Given the description of an element on the screen output the (x, y) to click on. 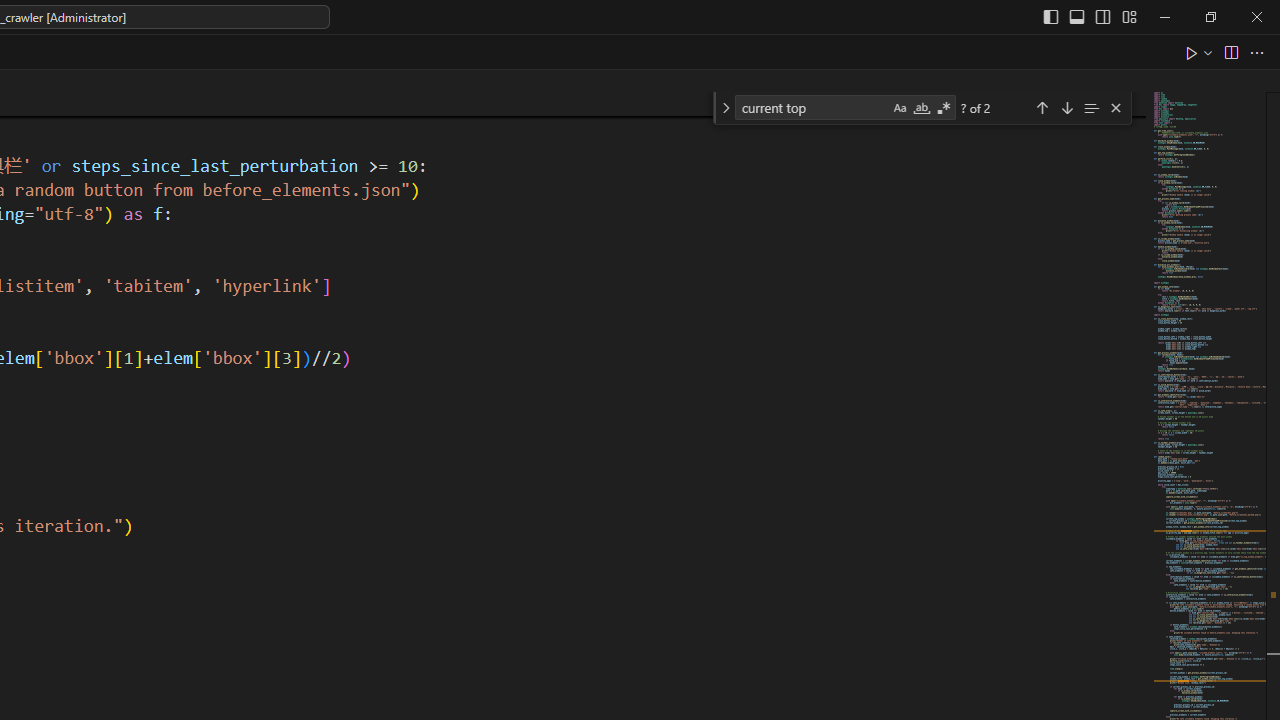
Toggle Panel (Ctrl+J) (1077, 16)
Match Case (Alt+C) (899, 107)
Match Whole Word (Alt+W) (921, 107)
Use Regular Expression (Alt+R) (943, 107)
Close (Escape) (1115, 107)
Find in Selection (Alt+L) (1091, 106)
Previous Match (Shift+Enter) (1041, 106)
Next Match (Enter) (1066, 106)
Run Python File (1192, 52)
Split Editor Right (Ctrl+\) [Alt] Split Editor Down (1230, 52)
Editor actions (1226, 52)
Title actions (1089, 16)
Restore (1210, 16)
Find (812, 106)
